Given the description of an element on the screen output the (x, y) to click on. 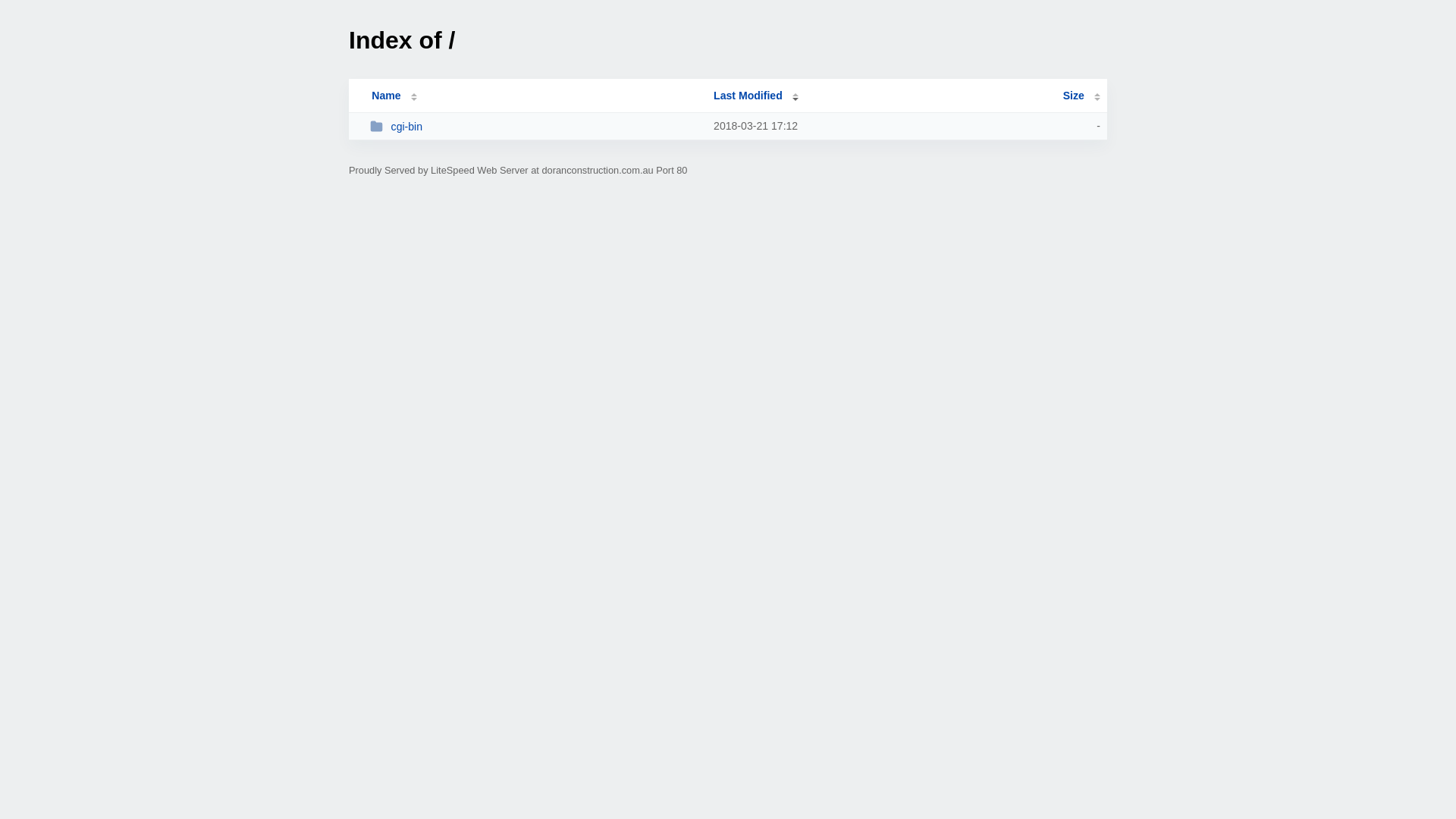
cgi-bin Element type: text (534, 125)
Name Element type: text (385, 95)
Size Element type: text (1081, 95)
Last Modified Element type: text (755, 95)
